Given the description of an element on the screen output the (x, y) to click on. 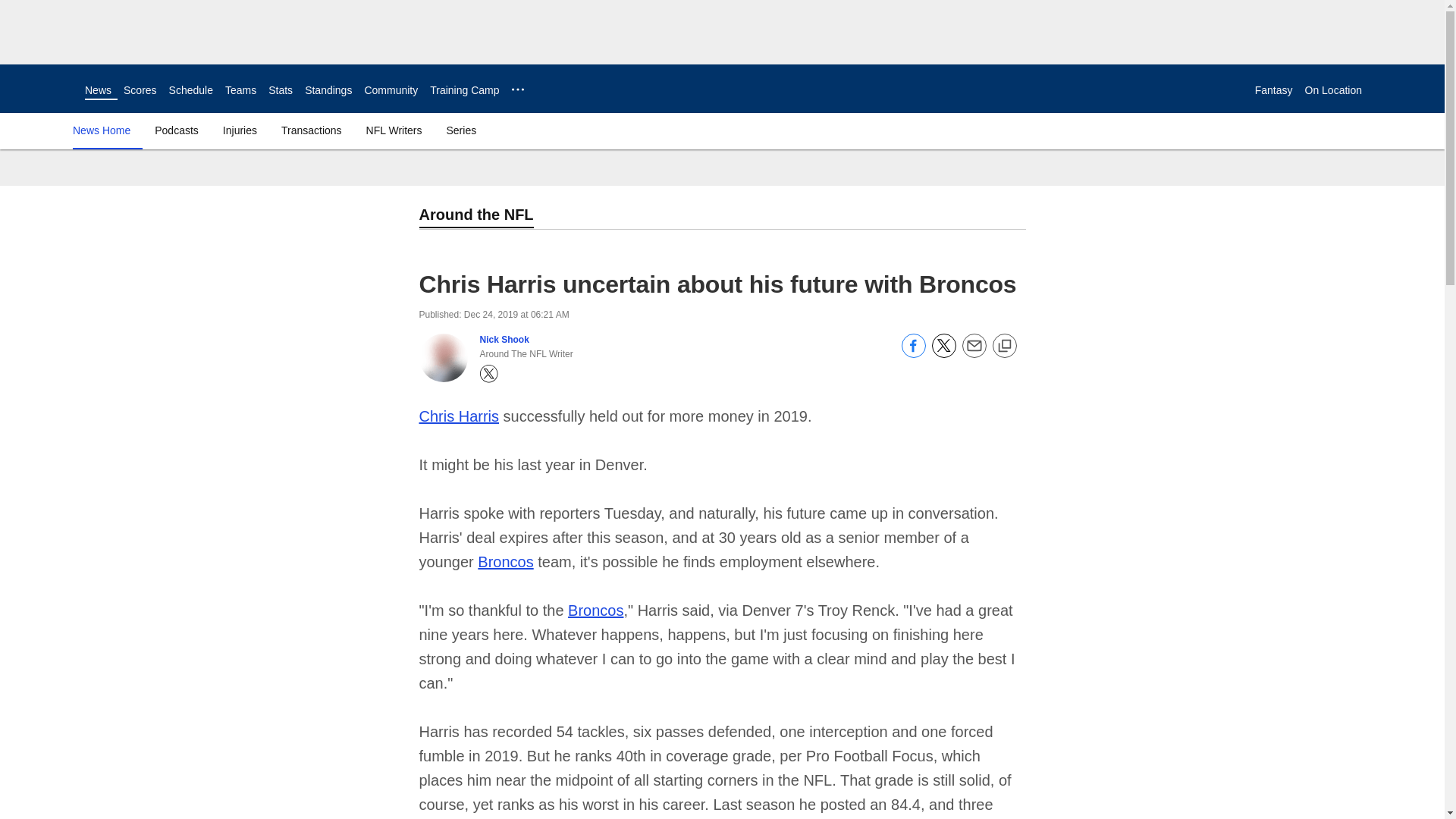
Stats (279, 90)
News (98, 90)
News (98, 90)
Schedule (190, 90)
Teams (240, 90)
Schedule (190, 90)
Scores (140, 90)
Teams (240, 90)
Scores (140, 90)
Link to NFL homepage (42, 88)
